Given the description of an element on the screen output the (x, y) to click on. 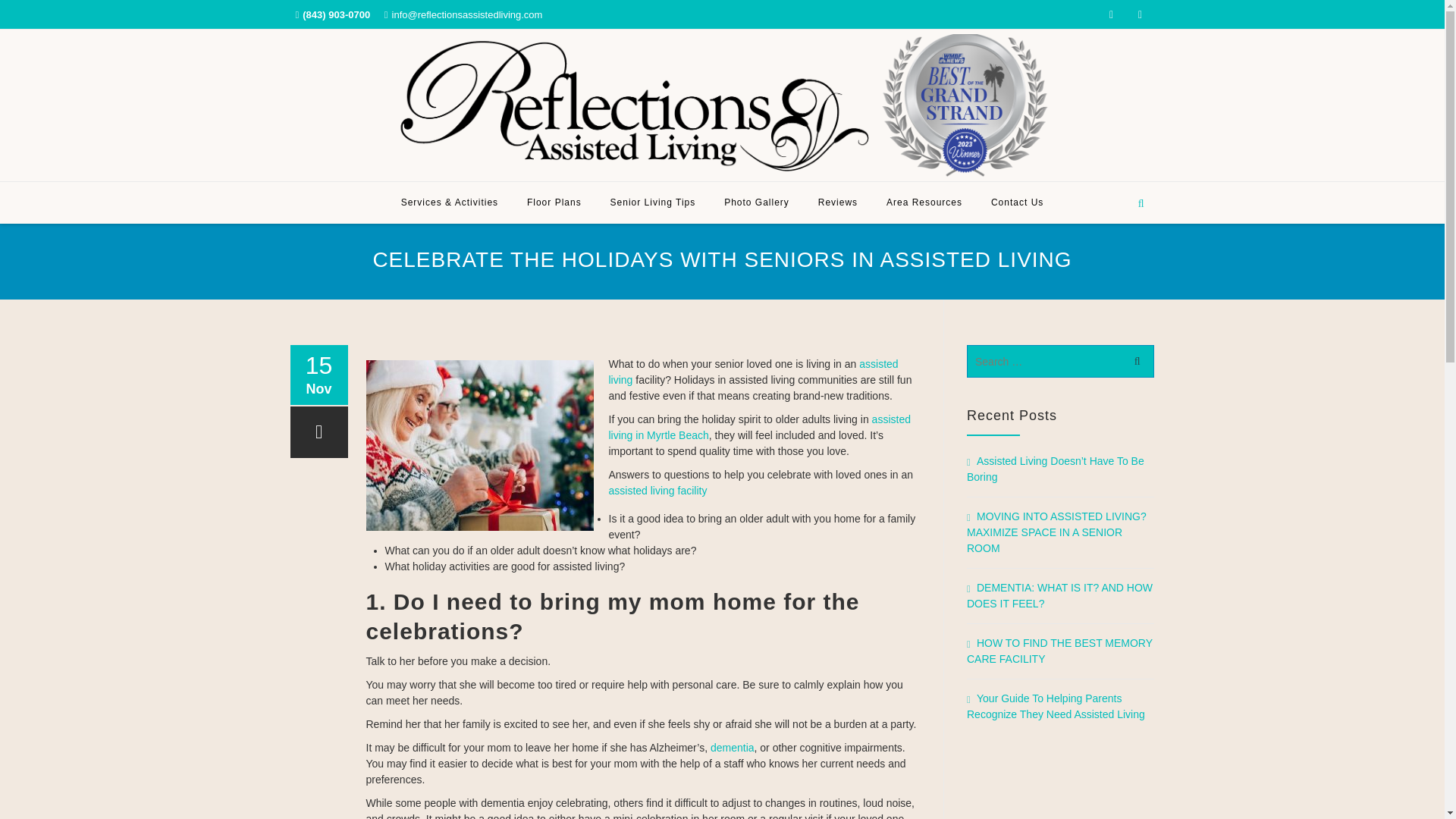
Search (1134, 359)
Reflections Assisted Living (721, 106)
assisted living (753, 371)
Senior Living Tips (652, 202)
Yelp (1139, 14)
Contact Us (1017, 202)
Photo Gallery (756, 202)
Reviews (837, 202)
Search (1134, 359)
Facebook (1110, 14)
